Given the description of an element on the screen output the (x, y) to click on. 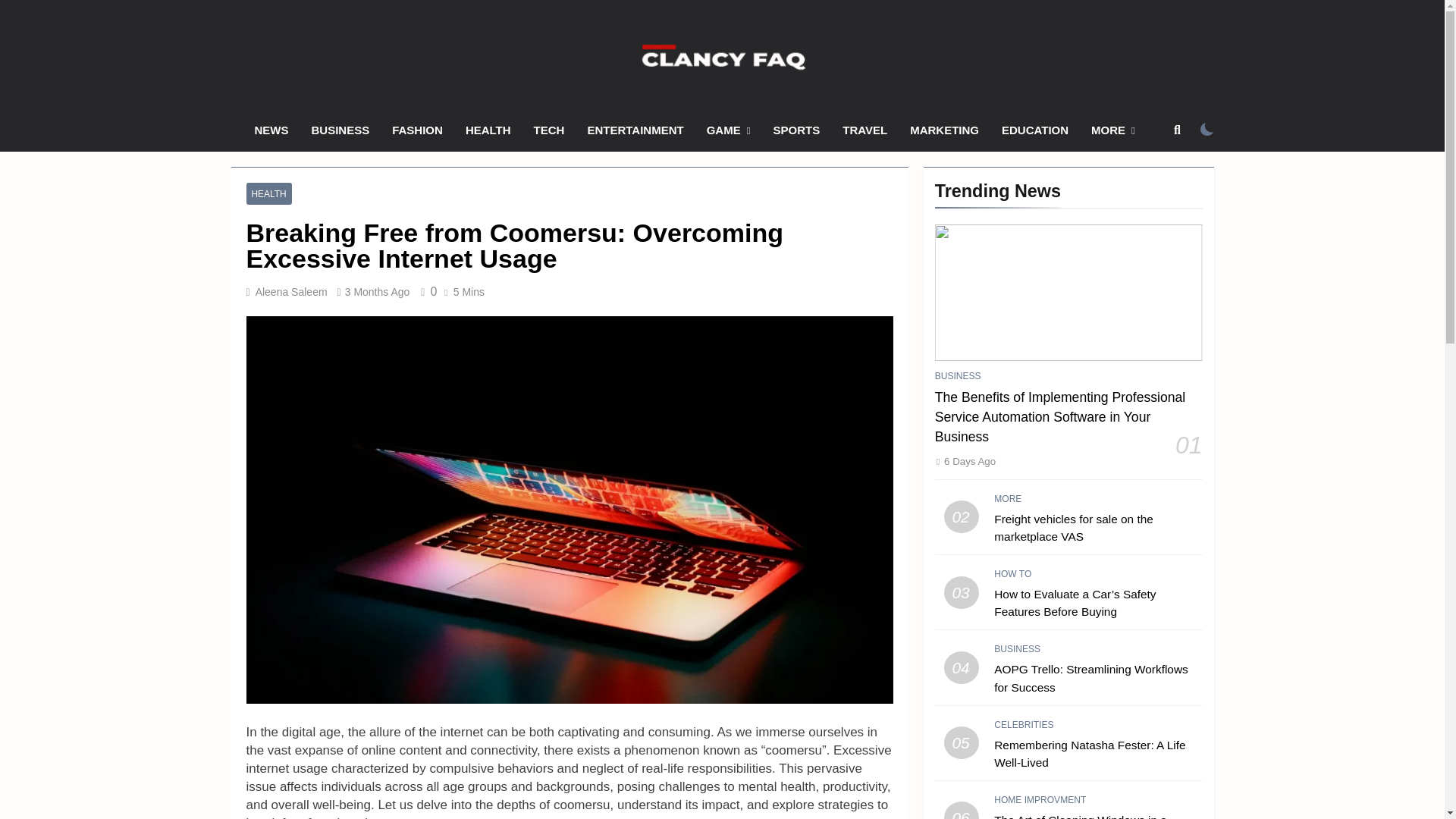
NEWS (271, 129)
TRAVEL (864, 129)
HEALTH (488, 129)
BUSINESS (340, 129)
0 (425, 291)
Clancy FAQ (570, 95)
GAME (728, 130)
Aleena Saleem (291, 291)
TECH (549, 129)
HEALTH (268, 193)
